Given the description of an element on the screen output the (x, y) to click on. 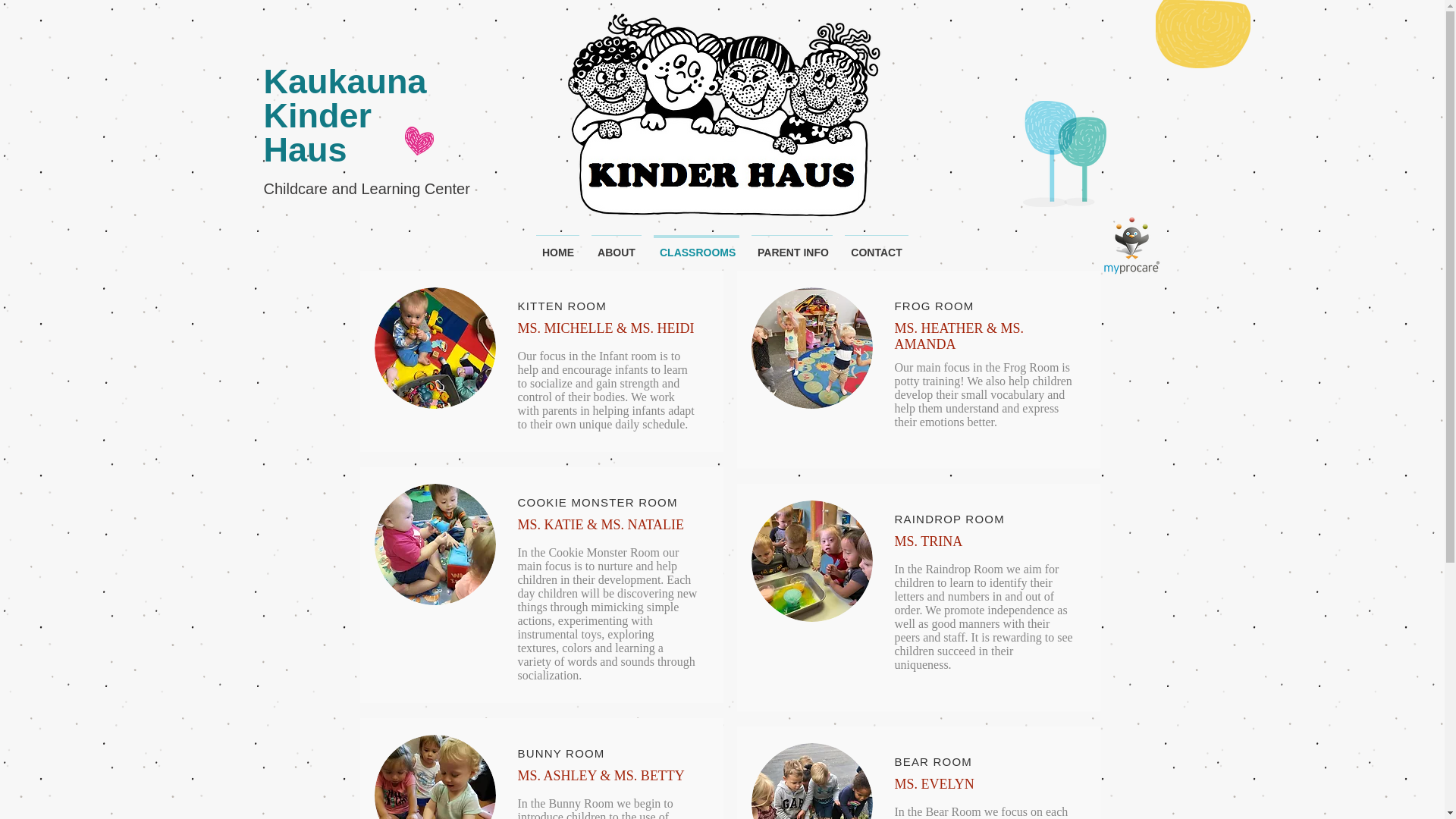
Kinder (317, 115)
HOME (557, 245)
Haus (305, 149)
Kaukauna (344, 81)
PARENT INFO (791, 245)
CLASSROOMS (696, 245)
ABOUT (616, 245)
CONTACT (876, 245)
